Given the description of an element on the screen output the (x, y) to click on. 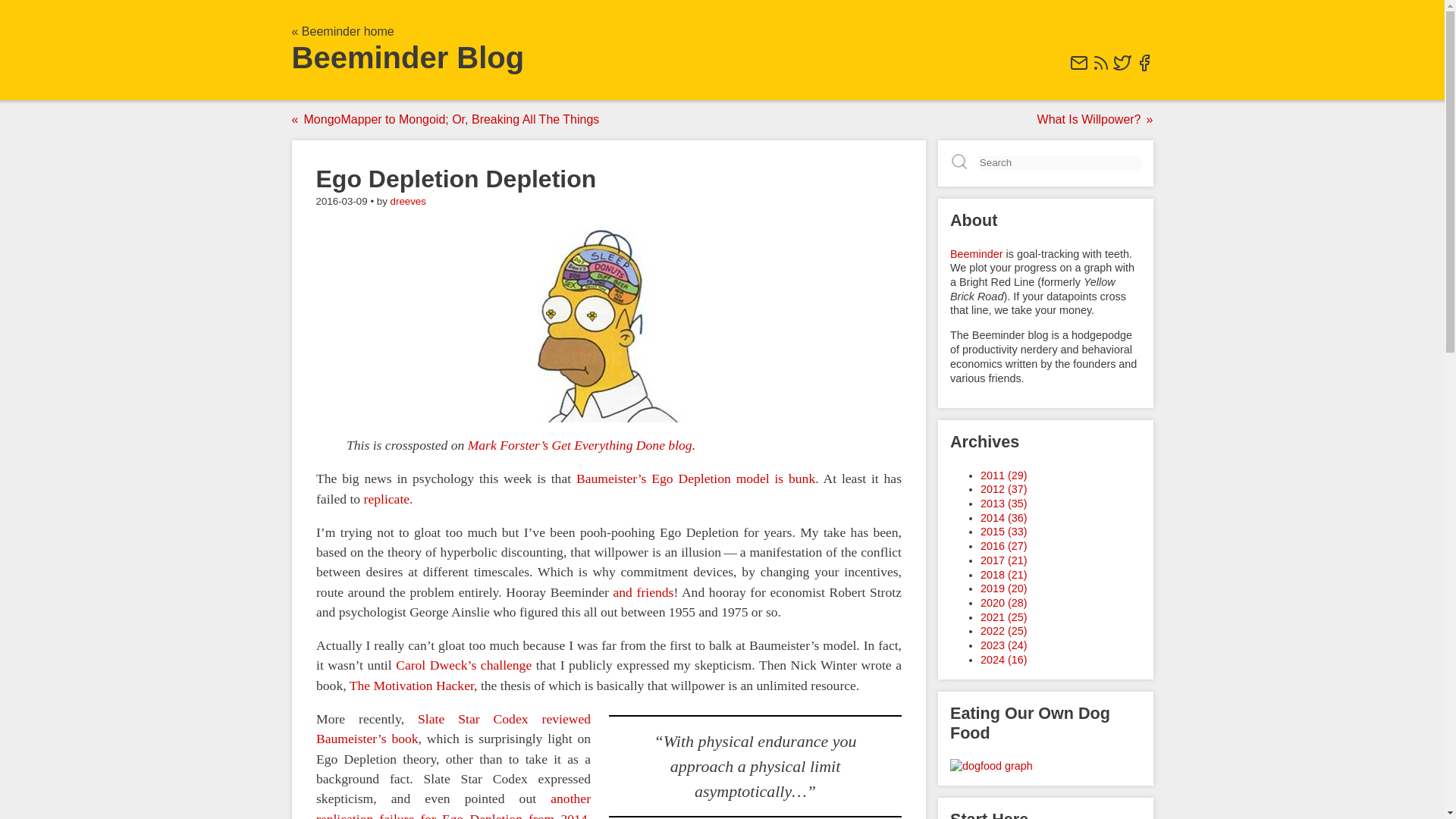
Beeminder (976, 253)
and friends (642, 591)
Slate Star Codex on psychology's replication crisis (385, 498)
Beeminder blog post, largely about Nick Winter's book (411, 685)
What Is Willpower? (1091, 119)
Beeminder Blog (407, 57)
another replication failure for Ego Depletion from 2014 (452, 805)
The Motivation Hacker (411, 685)
Follow us on Twitter (1122, 67)
Email Notifications (1078, 67)
